Given the description of an element on the screen output the (x, y) to click on. 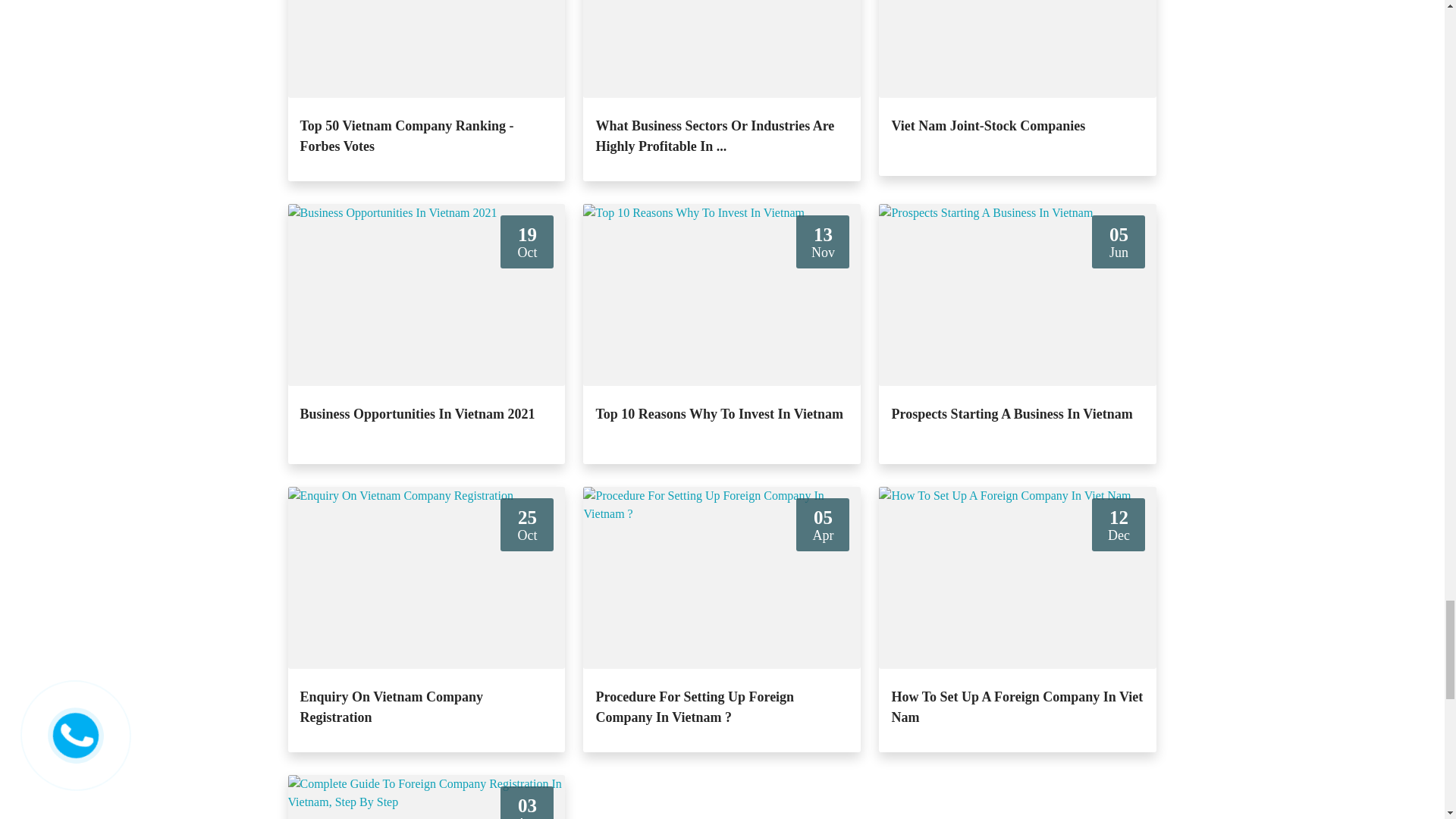
Procedure For Setting Up Foreign Company In Vietnam ? (721, 770)
Enquiry On Vietnam Company Registration (427, 770)
Top 50 Vietnam Company Ranking - Forbes Votes (427, 199)
How To Set Up A Foreign Company In Viet Nam (1017, 770)
Business Opportunities In Vietnam 2021 (427, 481)
Top 10 Reasons Why To Invest In Vietnam (721, 481)
Prospects Starting A Business In Vietnam (1017, 481)
Viet Nam Joint-Stock Companies (1017, 194)
